Given the description of an element on the screen output the (x, y) to click on. 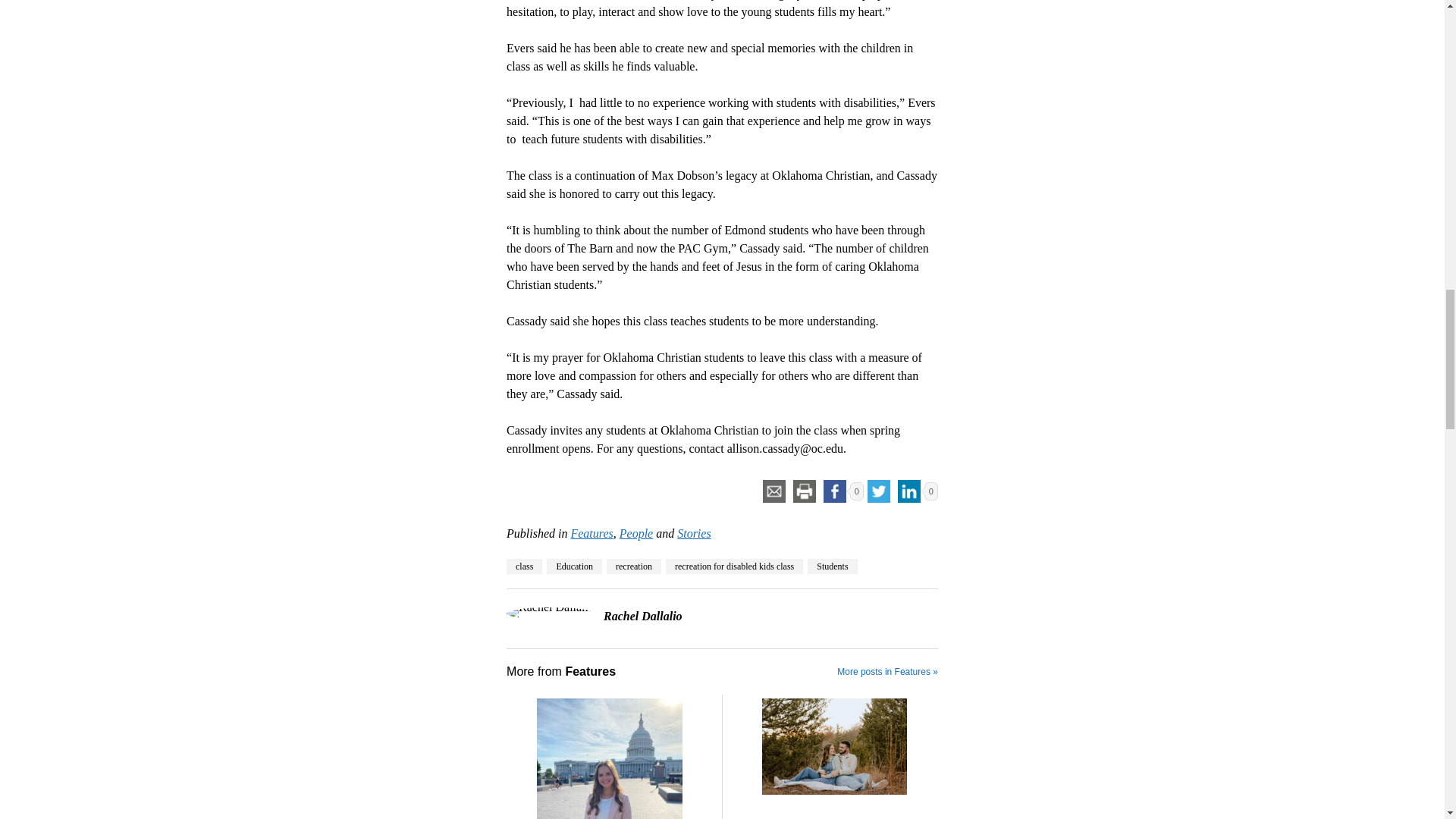
Facebook (834, 490)
View all posts tagged Education (574, 566)
View all posts tagged class (523, 566)
Email (773, 490)
Twitter (878, 490)
Print (804, 490)
LinkedIn (908, 490)
View all posts in Features (591, 533)
View all posts in People (636, 533)
View all posts in Stories (693, 533)
